Given the description of an element on the screen output the (x, y) to click on. 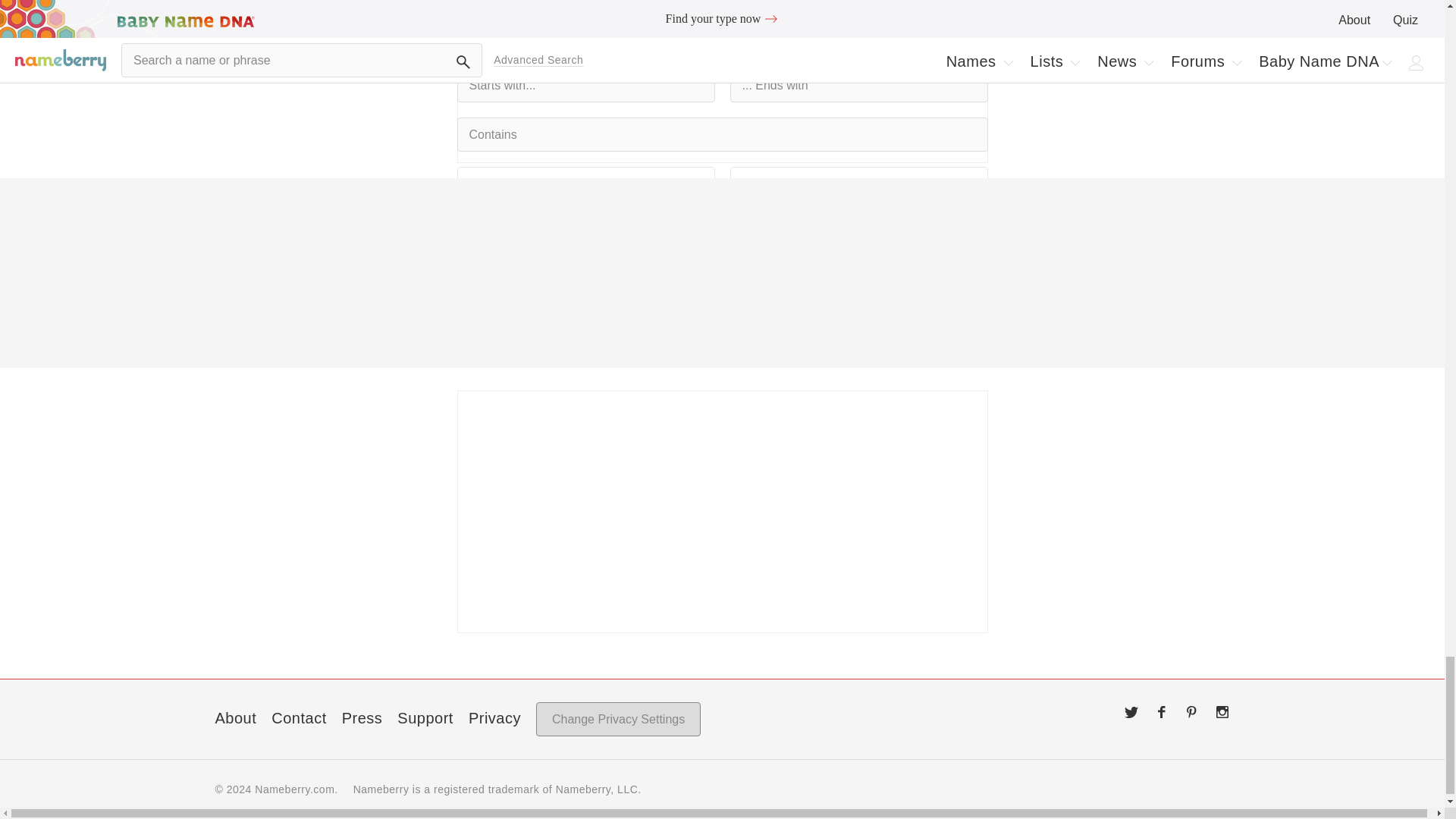
Sign up for the Nameberry Newsletter (722, 511)
Sign up for the Nameberry Newsletter (722, 81)
